Given the description of an element on the screen output the (x, y) to click on. 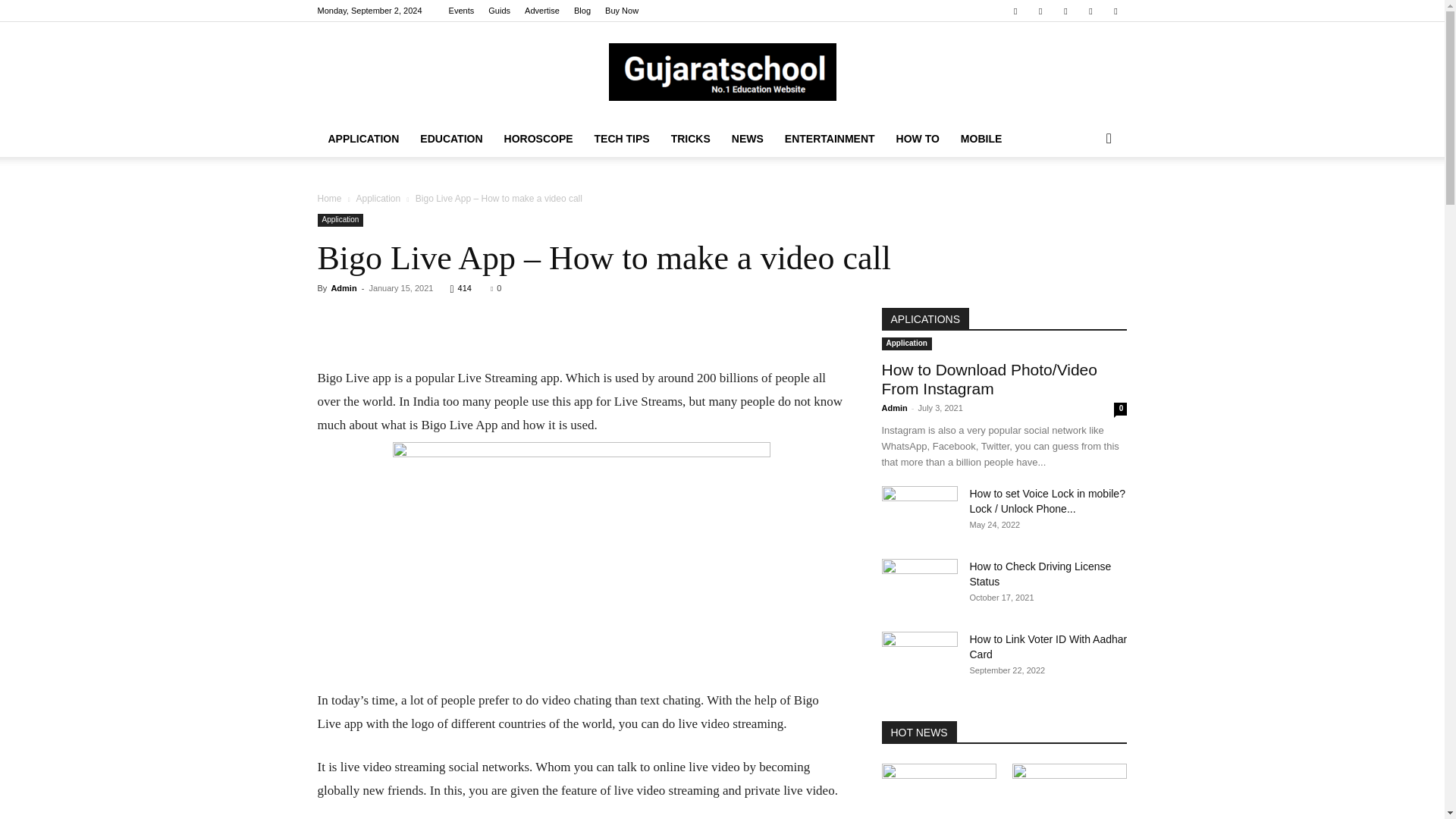
Events (461, 10)
Twitter (1040, 10)
NEWS (747, 138)
APPLICATION (363, 138)
gujaratschool (721, 71)
EDUCATION (451, 138)
Advertise (541, 10)
Vimeo (1065, 10)
View all posts in Application (377, 198)
Buy Now (622, 10)
